Given the description of an element on the screen output the (x, y) to click on. 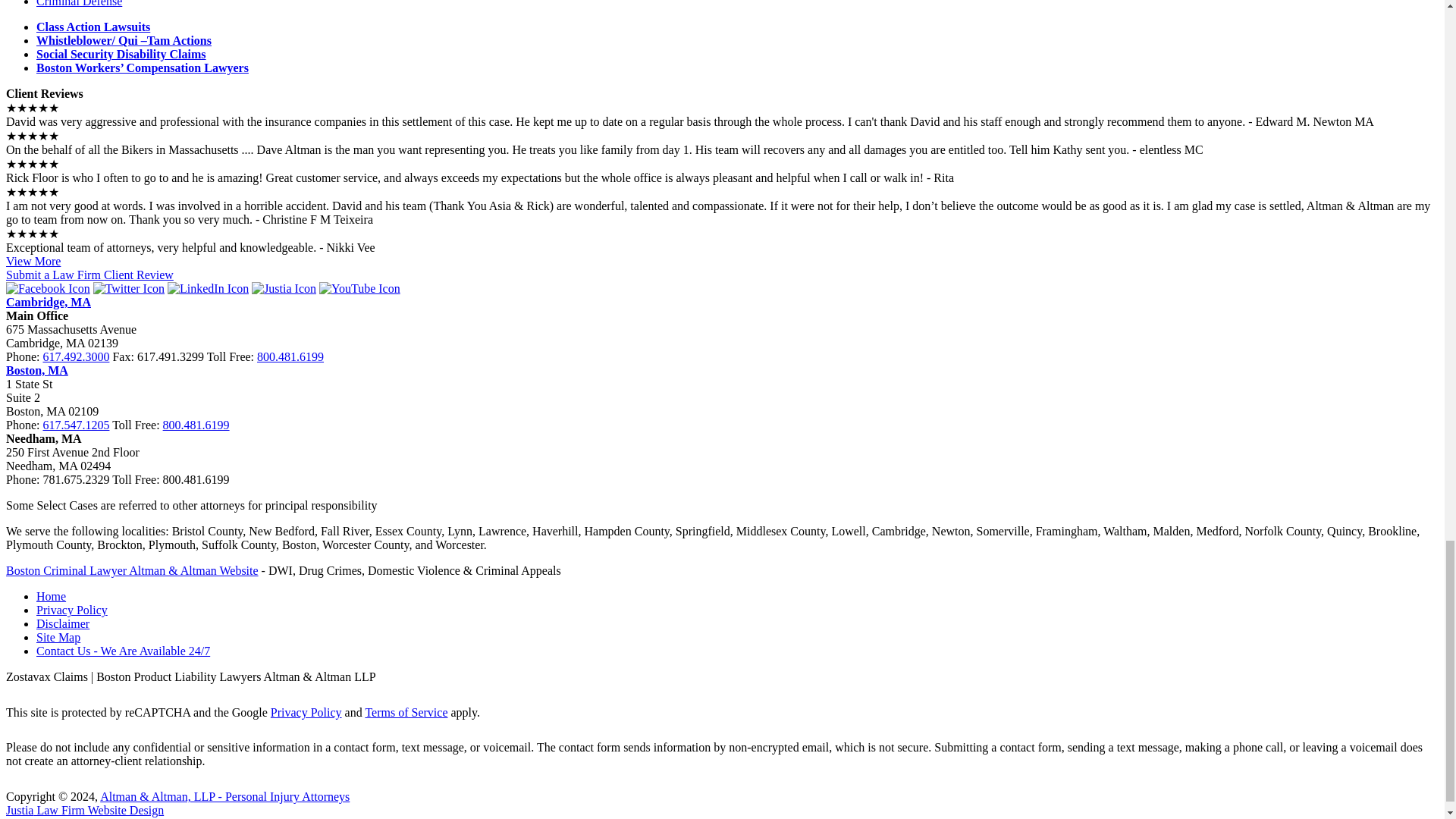
Twitter (128, 287)
Justia (283, 287)
Facebook (47, 287)
YouTube (359, 287)
LinkedIn (207, 287)
